Given the description of an element on the screen output the (x, y) to click on. 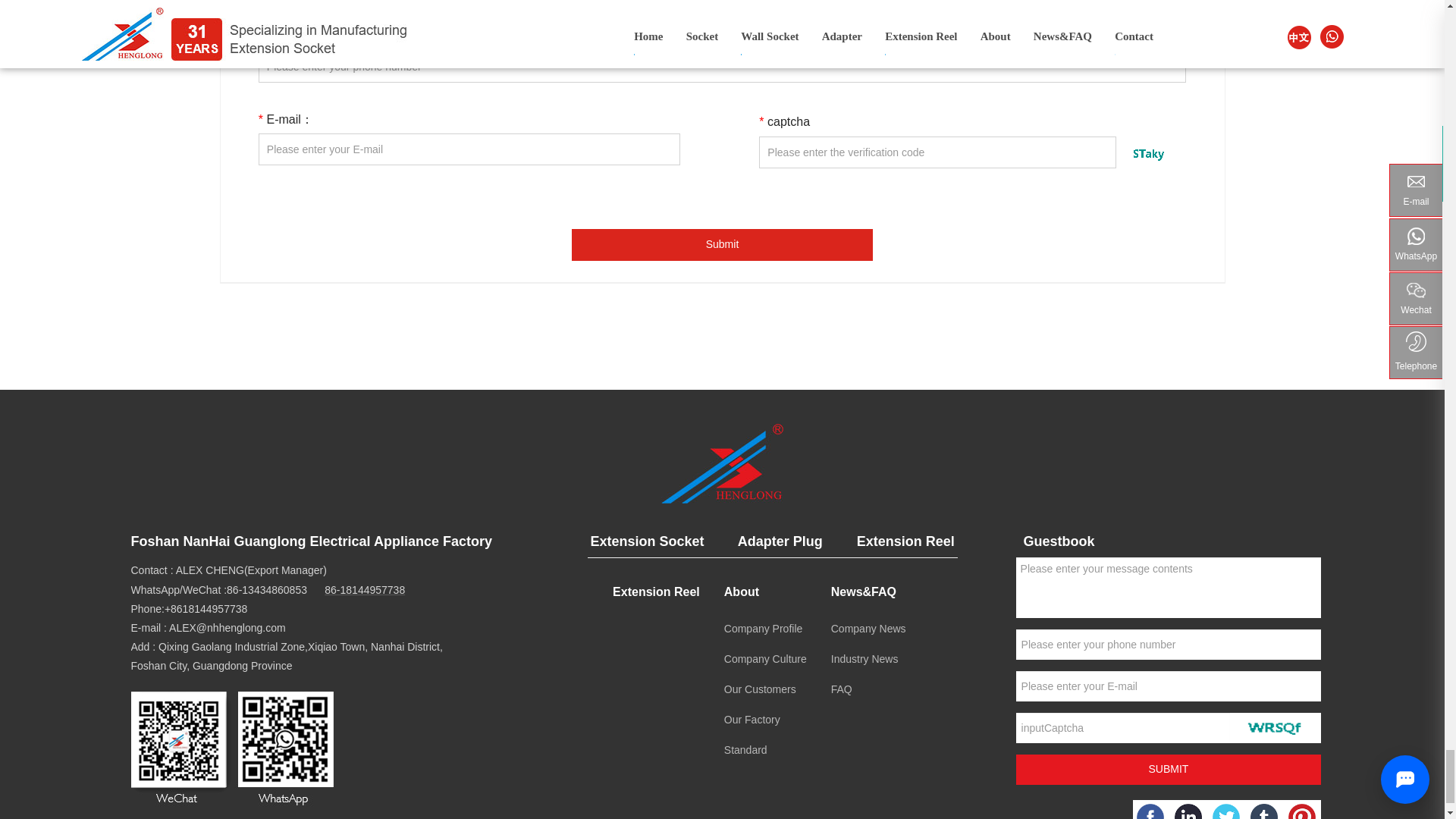
erweima (232, 750)
